Given the description of an element on the screen output the (x, y) to click on. 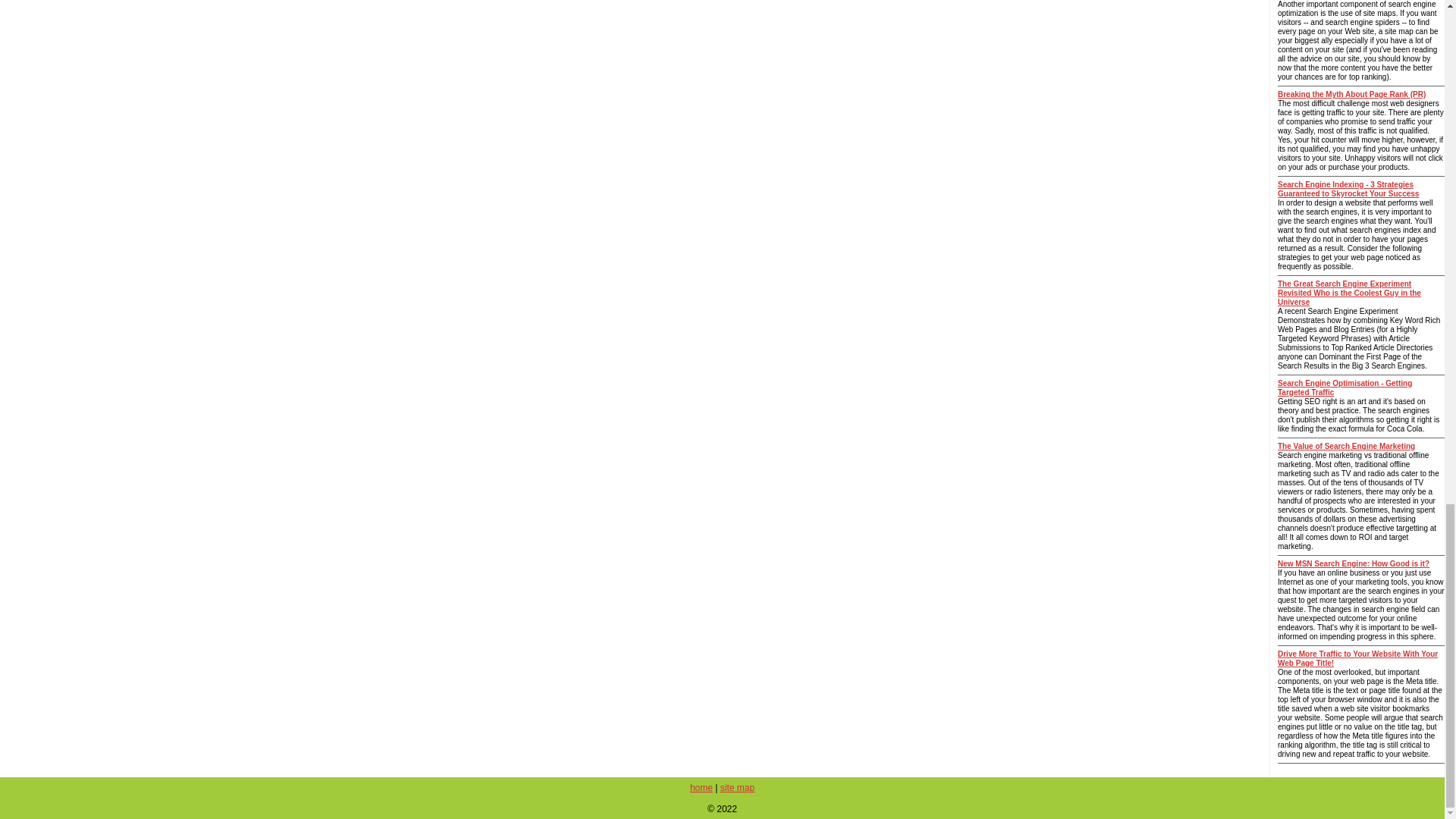
site map (737, 787)
Search Engine Optimisation - Getting Targeted Traffic (1345, 387)
The Value of Search Engine Marketing (1346, 446)
home (701, 787)
Drive More Traffic to Your Website With Your Web Page Title! (1358, 658)
New MSN Search Engine: How Good is it? (1353, 563)
